Given the description of an element on the screen output the (x, y) to click on. 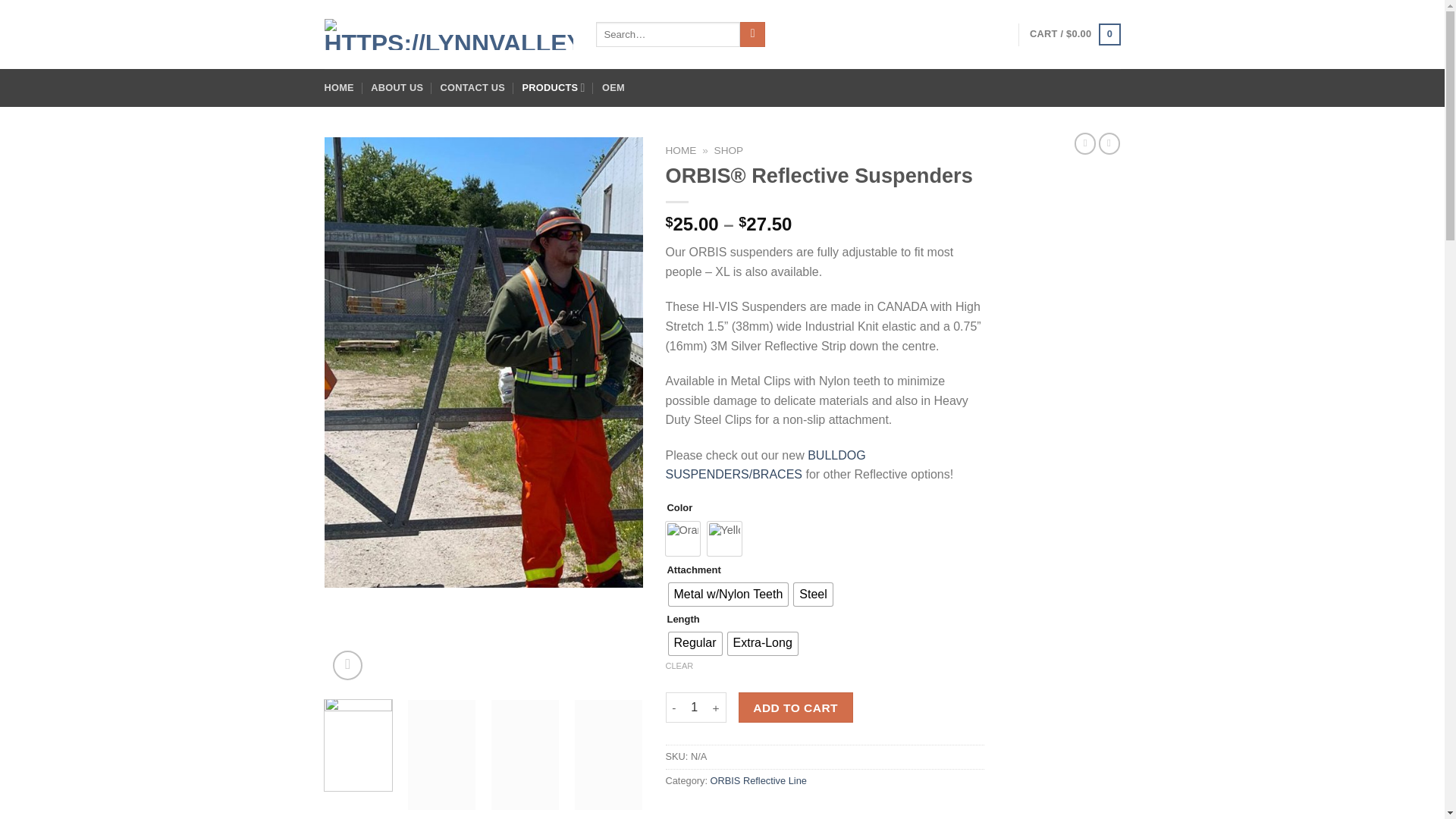
Extra-Long (762, 643)
ABOUT US (397, 87)
Search (752, 34)
HOME (681, 150)
Yellow-Green (723, 538)
CONTACT US (473, 87)
Orange (682, 538)
Zoom (347, 665)
Cart (1074, 34)
Regular (695, 643)
Steel (812, 594)
PRODUCTS (553, 87)
